Given the description of an element on the screen output the (x, y) to click on. 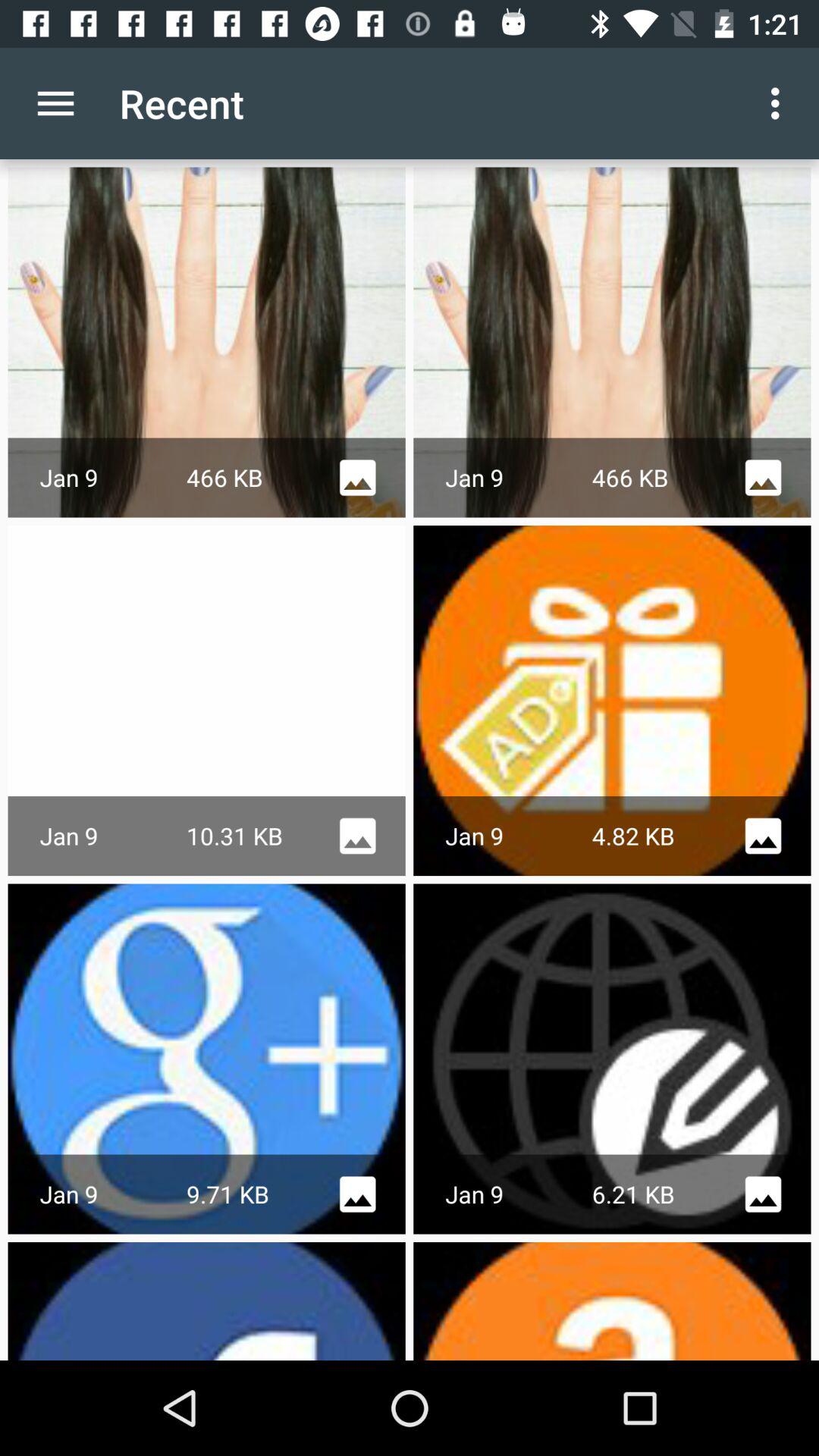
select the fifth image (206, 1058)
click on the first row first image (206, 302)
click on the icon below first orange image (763, 836)
